Given the description of an element on the screen output the (x, y) to click on. 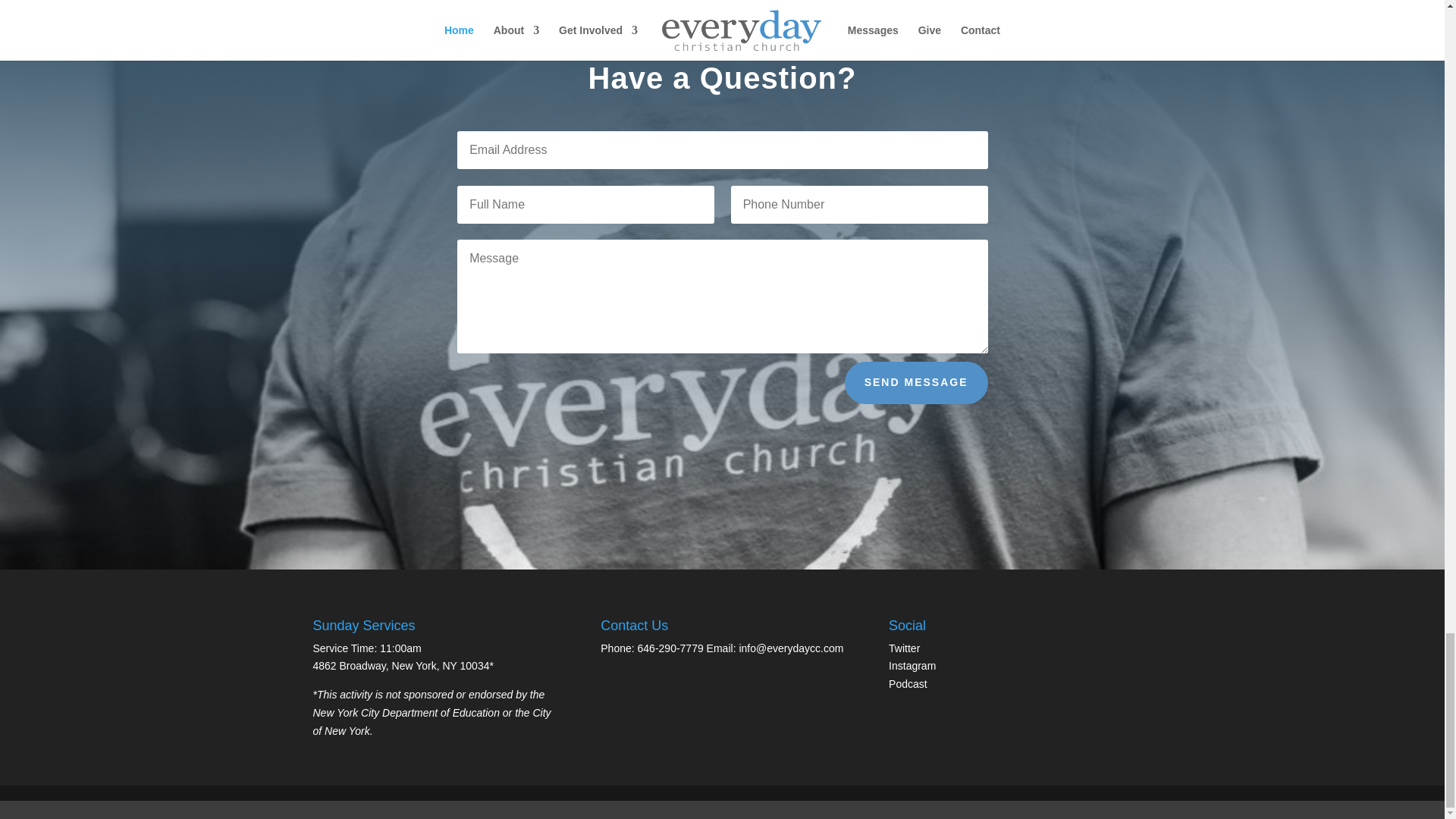
Twitter (904, 648)
Instagram (912, 665)
Podcast (907, 684)
SEND MESSAGE (916, 382)
